Given the description of an element on the screen output the (x, y) to click on. 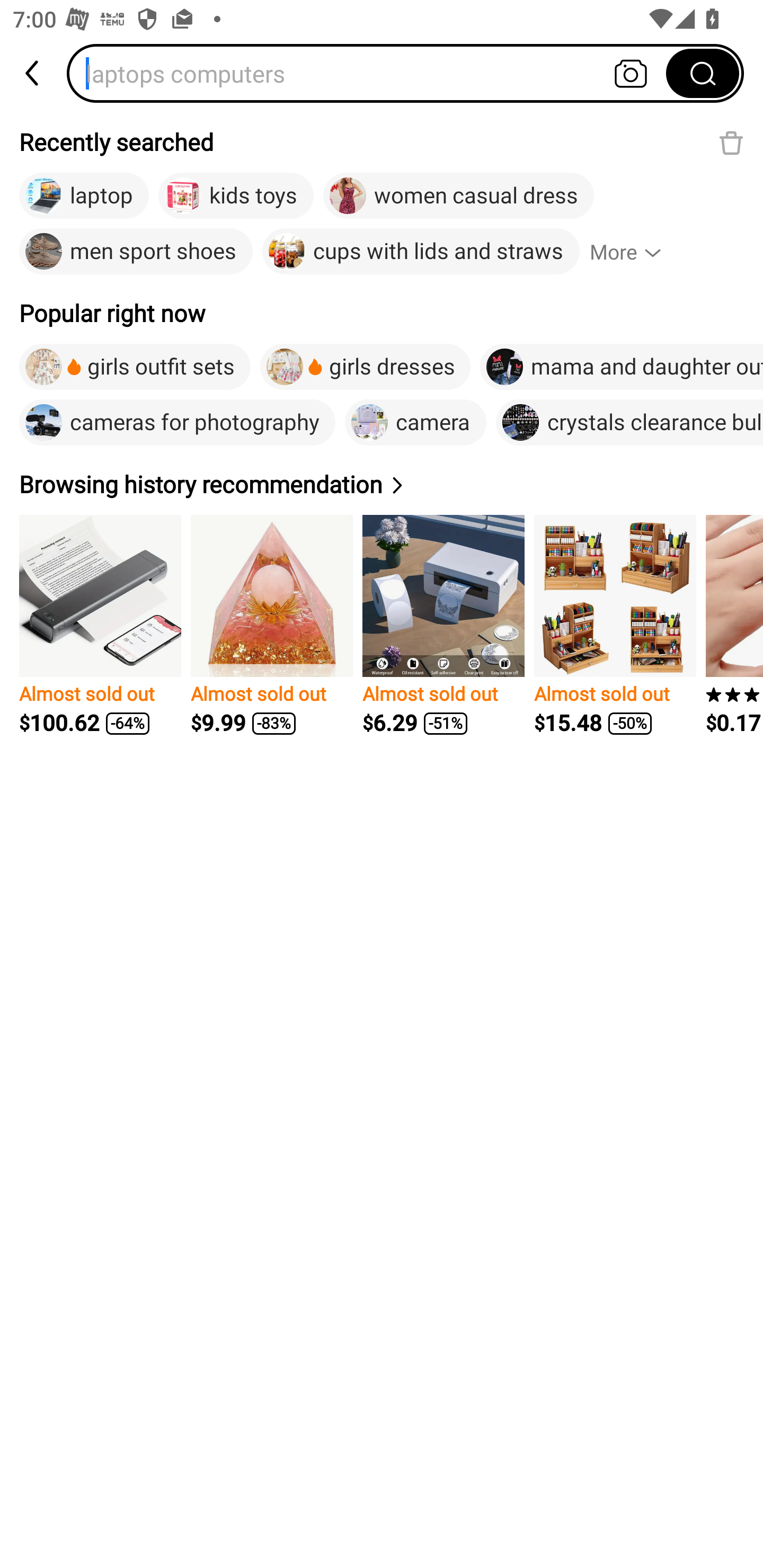
back (33, 72)
laptops computers (372, 73)
Search by photo (630, 73)
Delete recent search (731, 142)
laptop (83, 195)
kids toys (235, 195)
women casual dress (458, 195)
men sport shoes (135, 251)
cups with lids and straws (420, 251)
More (633, 251)
girls outfit sets (134, 366)
girls dresses (365, 366)
mama and daughter outfits (621, 366)
cameras for photography (177, 422)
camera (415, 422)
crystals clearance bulk (629, 422)
Browsing history recommendation (213, 484)
Almost sold out $100.62 -64% (100, 625)
Almost sold out $9.99 -83% (271, 625)
Almost sold out $6.29 -51% (443, 625)
Almost sold out $15.48 -50% (614, 625)
